Given the description of an element on the screen output the (x, y) to click on. 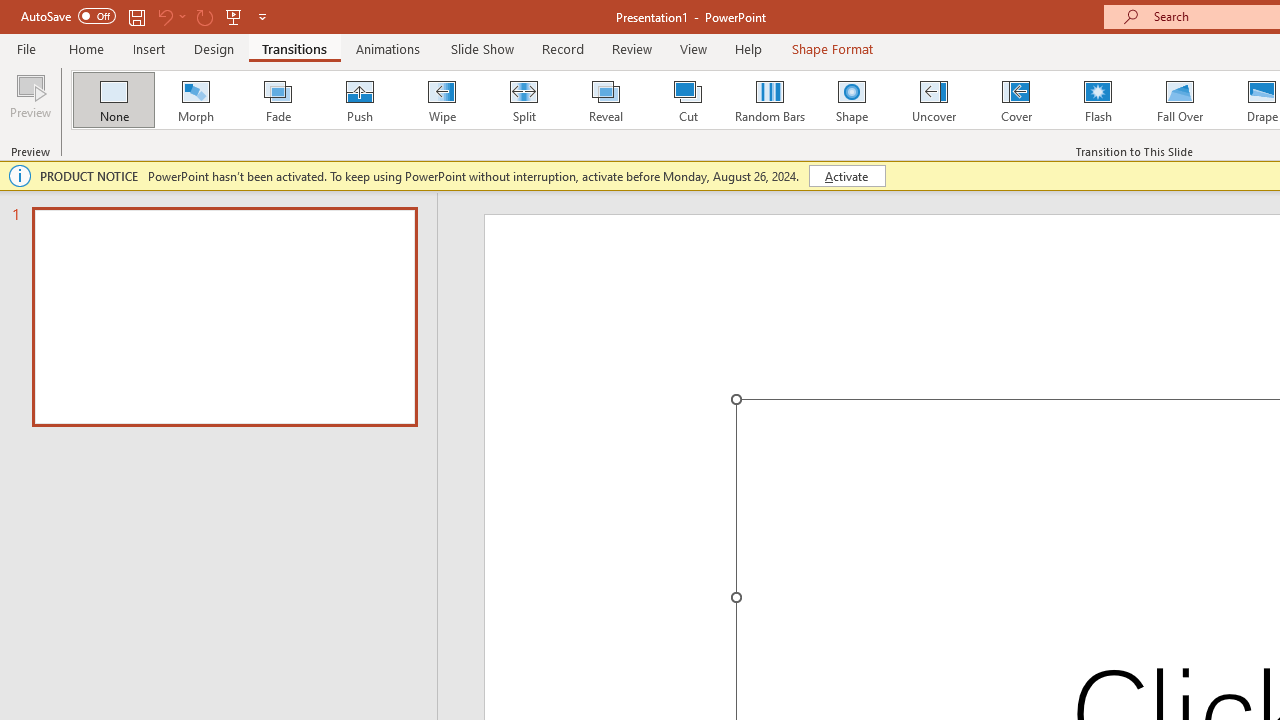
Fade (277, 100)
Random Bars (770, 100)
Activate (846, 175)
Shape Format (832, 48)
Shape (852, 100)
Cover (1016, 100)
